Given the description of an element on the screen output the (x, y) to click on. 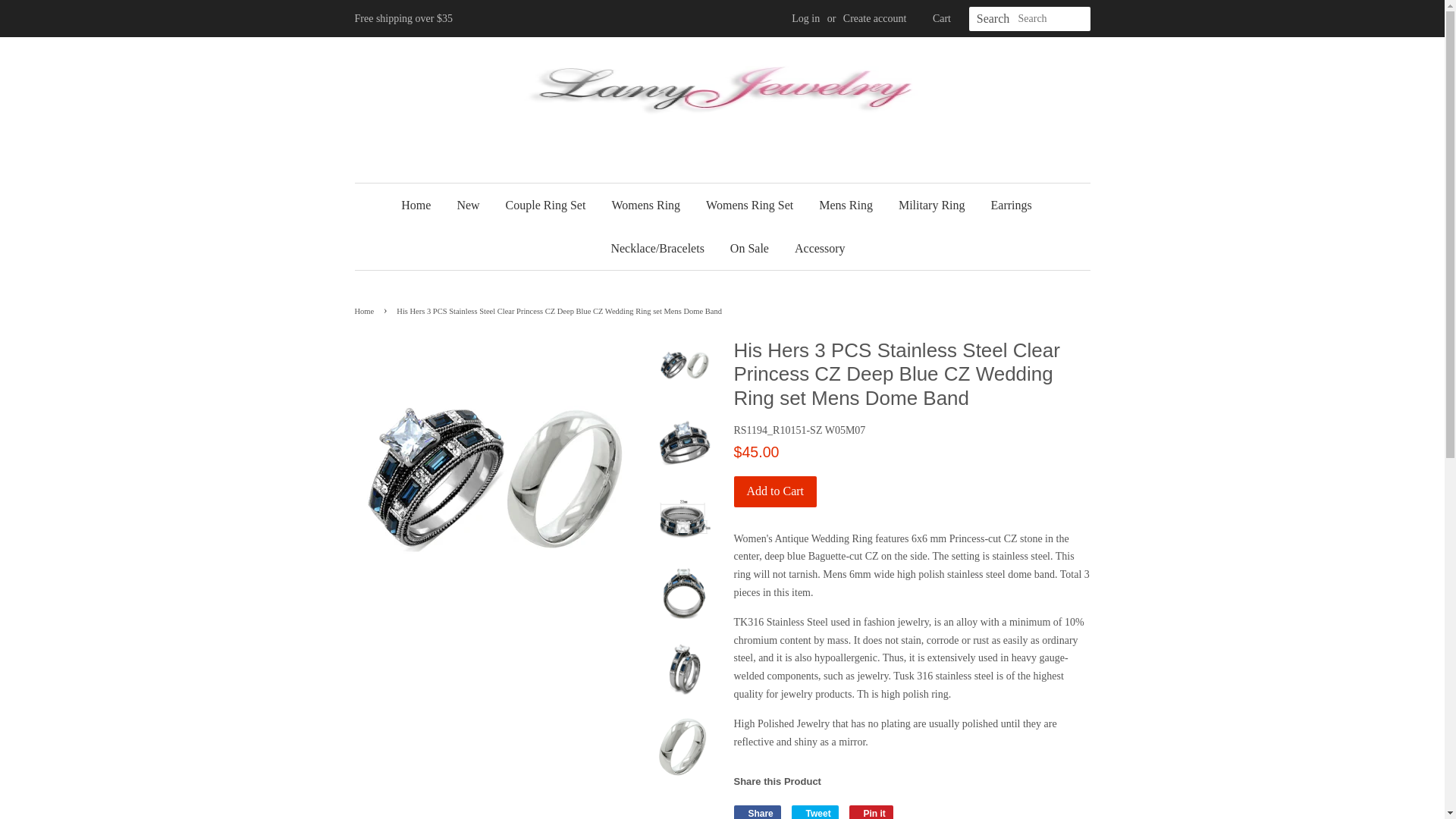
Pin on Pinterest (870, 812)
Share on Facebook (756, 812)
Home (421, 204)
On Sale (749, 248)
Womens Ring Set (749, 204)
Accessory (814, 248)
Home (366, 311)
Create account (875, 18)
Cart (941, 18)
Tweet on Twitter (815, 812)
